Given the description of an element on the screen output the (x, y) to click on. 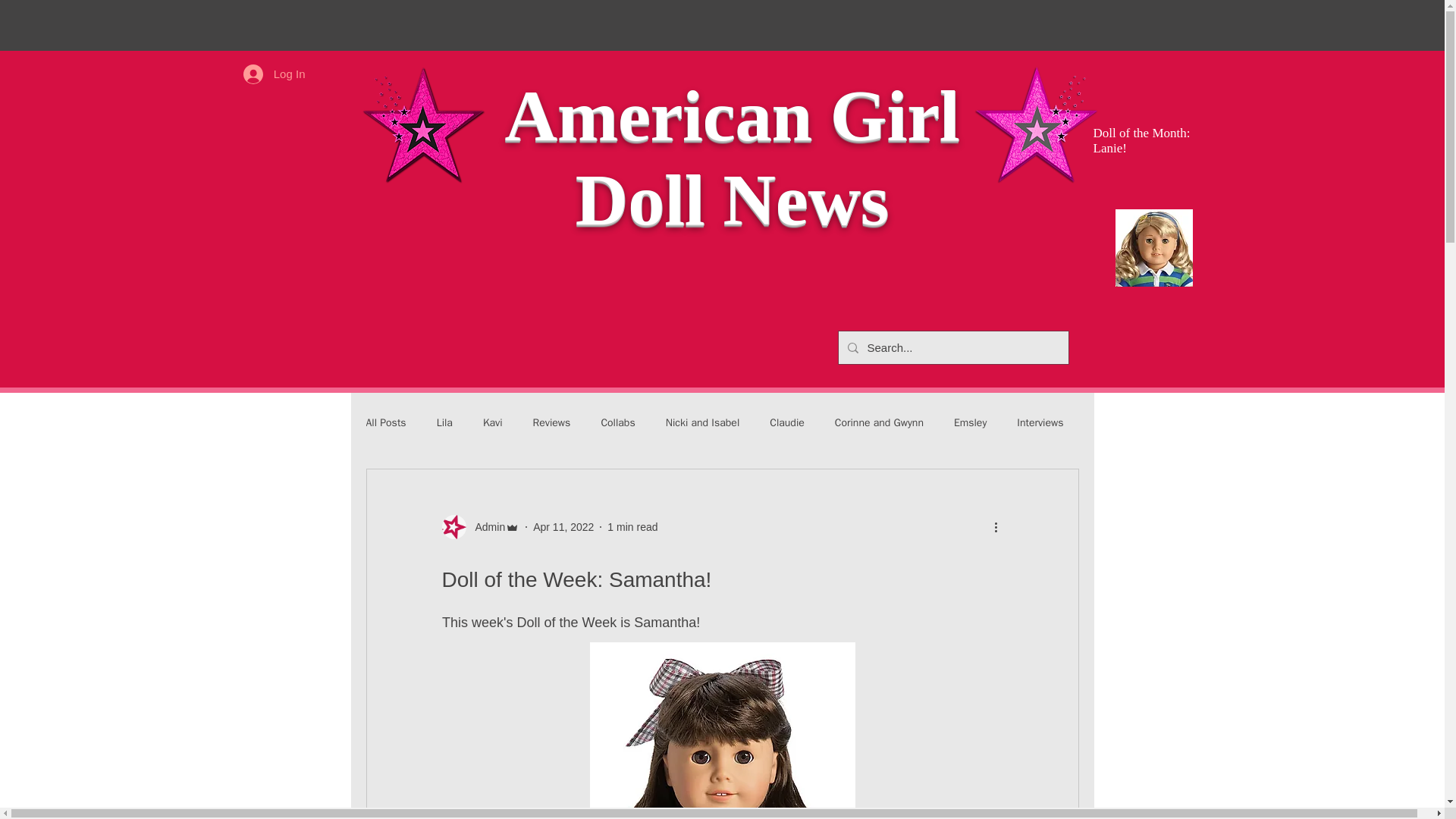
All Posts (385, 422)
Reviews (551, 422)
Claudie (787, 422)
1 min read (632, 526)
Emsley (970, 422)
Collabs (616, 422)
Kavi (492, 422)
Interviews (1039, 422)
Admin (485, 526)
Log In (273, 72)
Apr 11, 2022 (563, 526)
Corinne and Gwynn (878, 422)
star.png (422, 127)
Lila (444, 422)
Nicki and Isabel (702, 422)
